Given the description of an element on the screen output the (x, y) to click on. 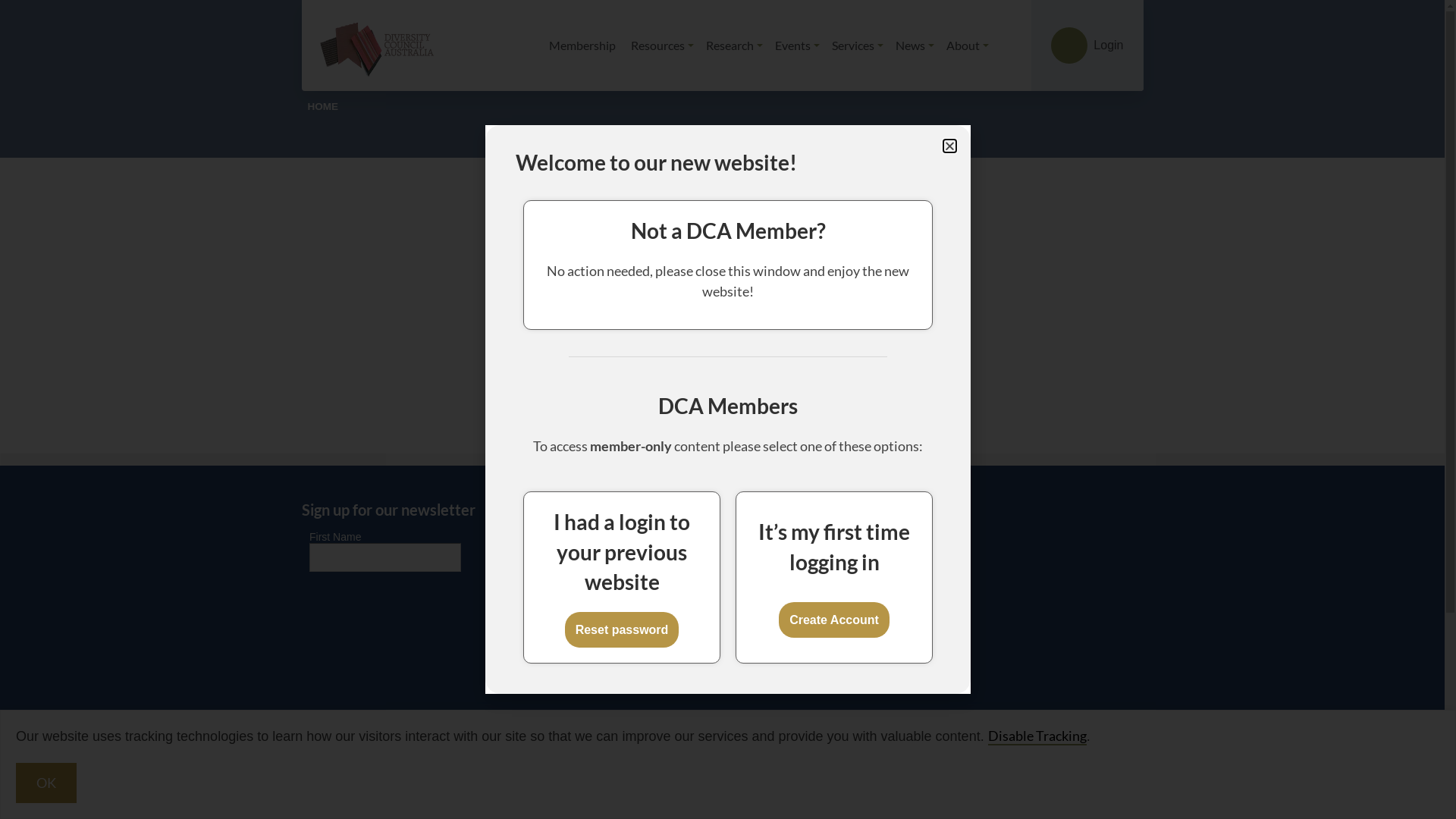
Services Element type: text (857, 45)
Instagram Element type: hover (1098, 752)
Login Element type: text (1086, 45)
About Element type: text (967, 45)
Twitter Element type: hover (1010, 752)
Membership Element type: text (583, 45)
News Element type: text (914, 45)
Reset password Element type: text (621, 629)
Disable Tracking Element type: text (1037, 736)
Facebook Element type: hover (966, 752)
Events Element type: text (796, 45)
LinkedIn Element type: hover (1054, 752)
Create Account Element type: text (833, 619)
Resources Element type: text (661, 45)
Search Element type: text (892, 335)
Research Element type: text (733, 45)
Terms of use and Privacy Statement Element type: text (390, 733)
Contact us Element type: text (328, 752)
Terms and conditions Element type: text (353, 714)
